Given the description of an element on the screen output the (x, y) to click on. 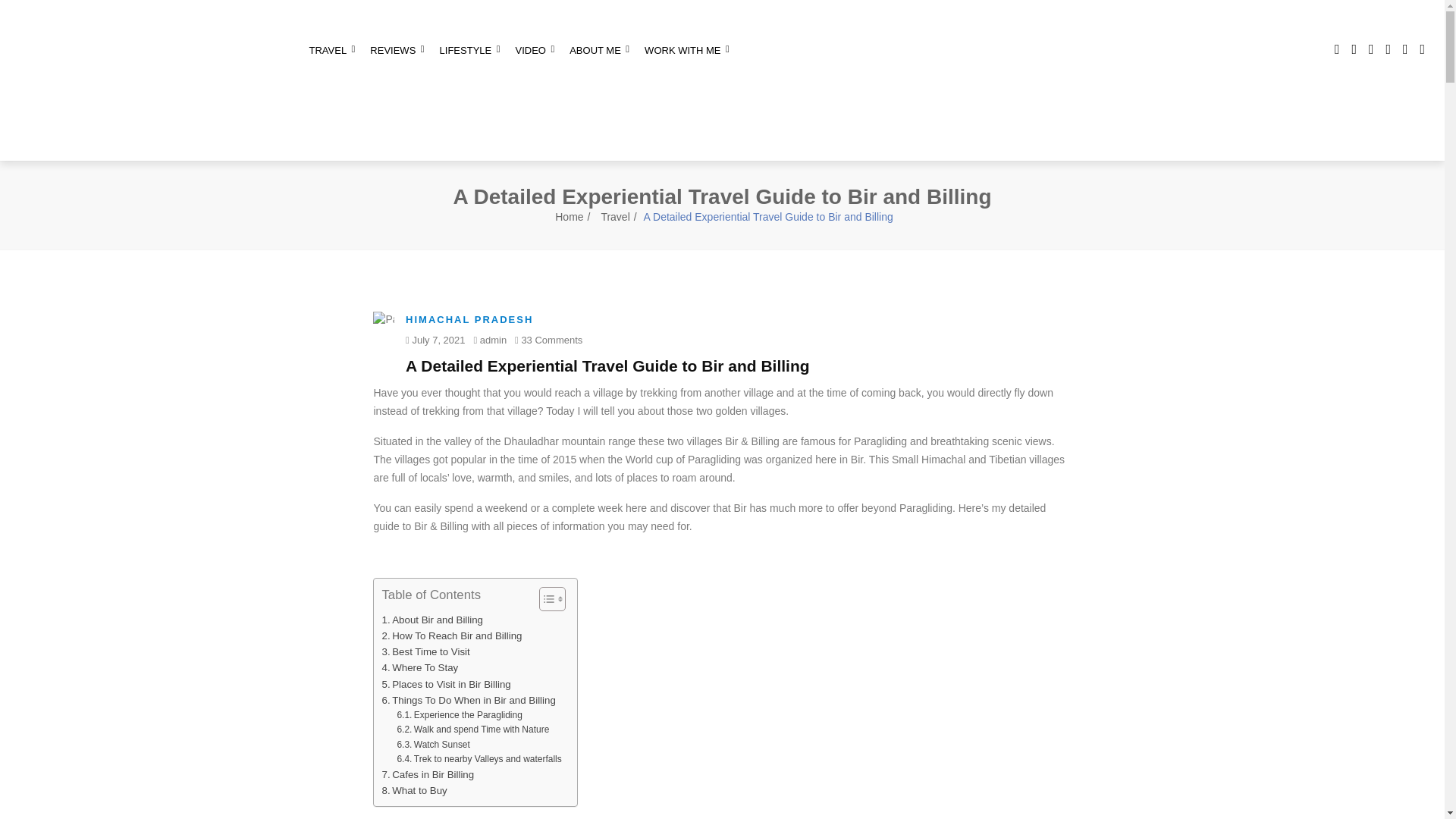
WORK WITH ME (686, 50)
LIFESTYLE (470, 50)
How To Reach Bir and Billing (451, 635)
Places to Visit in Bir Billing (446, 684)
pinterest (1422, 49)
Where To Stay (419, 667)
facebook (1336, 49)
About Bir and Billing (432, 619)
youtube (1404, 49)
VIDEO (534, 50)
